Given the description of an element on the screen output the (x, y) to click on. 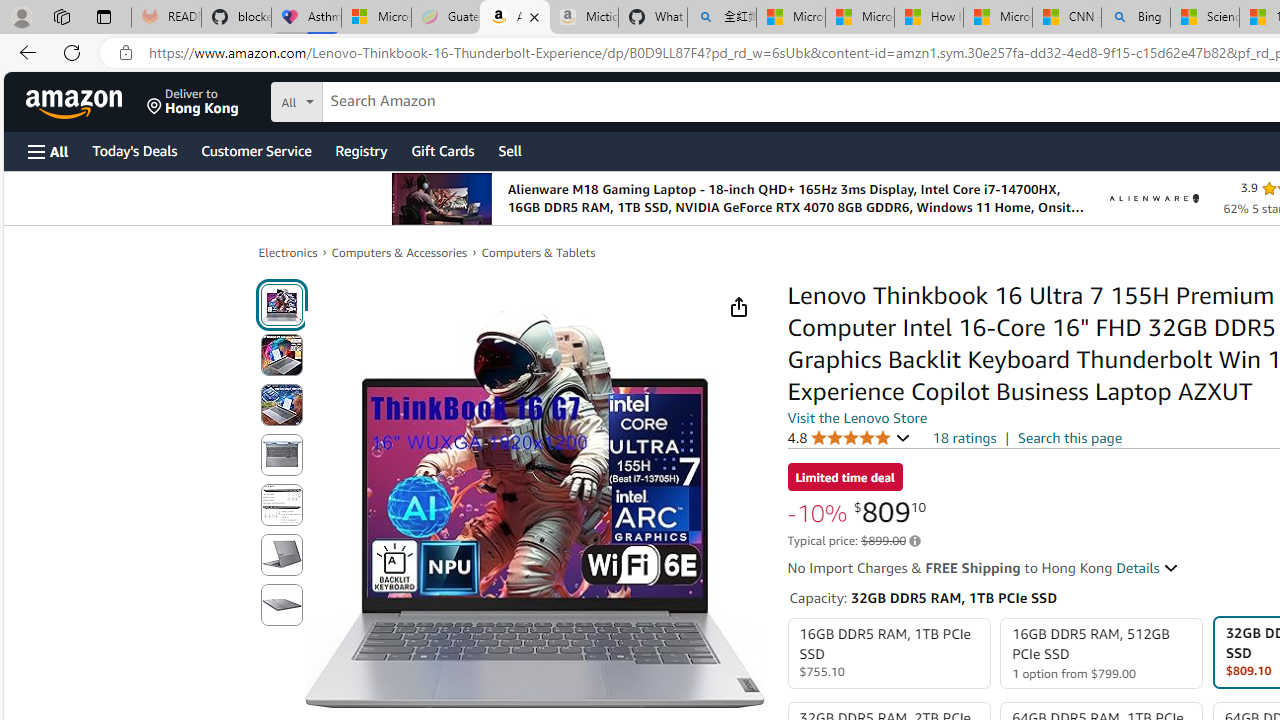
Search in (371, 99)
Open Menu (48, 151)
How I Got Rid of Microsoft Edge's Unnecessary Features (928, 17)
Workspaces (61, 16)
4.8 4.8 out of 5 stars (849, 437)
Personal Profile (21, 16)
Microsoft Start (997, 17)
18 ratings (964, 438)
16GB DDR5 RAM, 512GB PCIe SSD 1 option from $799.00 (1101, 653)
Registry (360, 150)
Deliver to Hong Kong (193, 101)
